Given the description of an element on the screen output the (x, y) to click on. 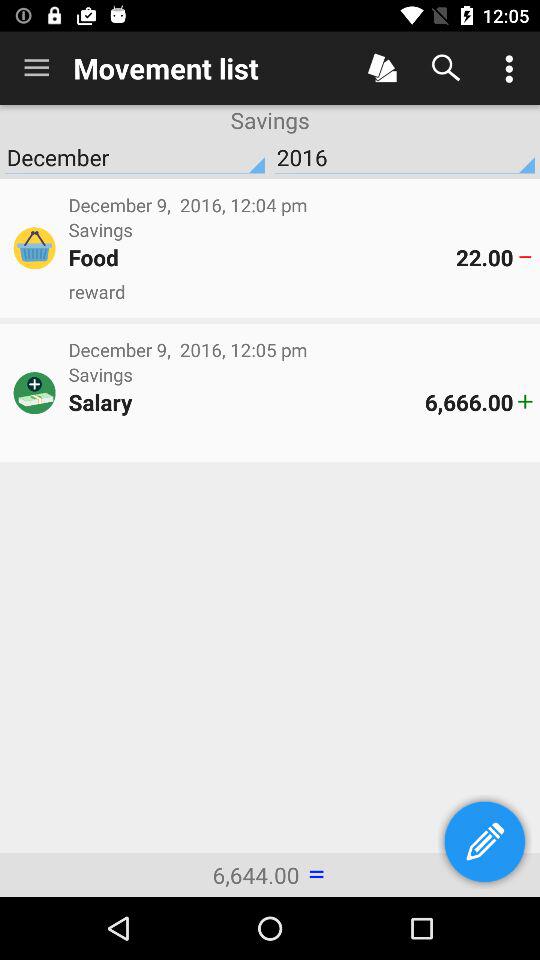
menu options (508, 67)
